Given the description of an element on the screen output the (x, y) to click on. 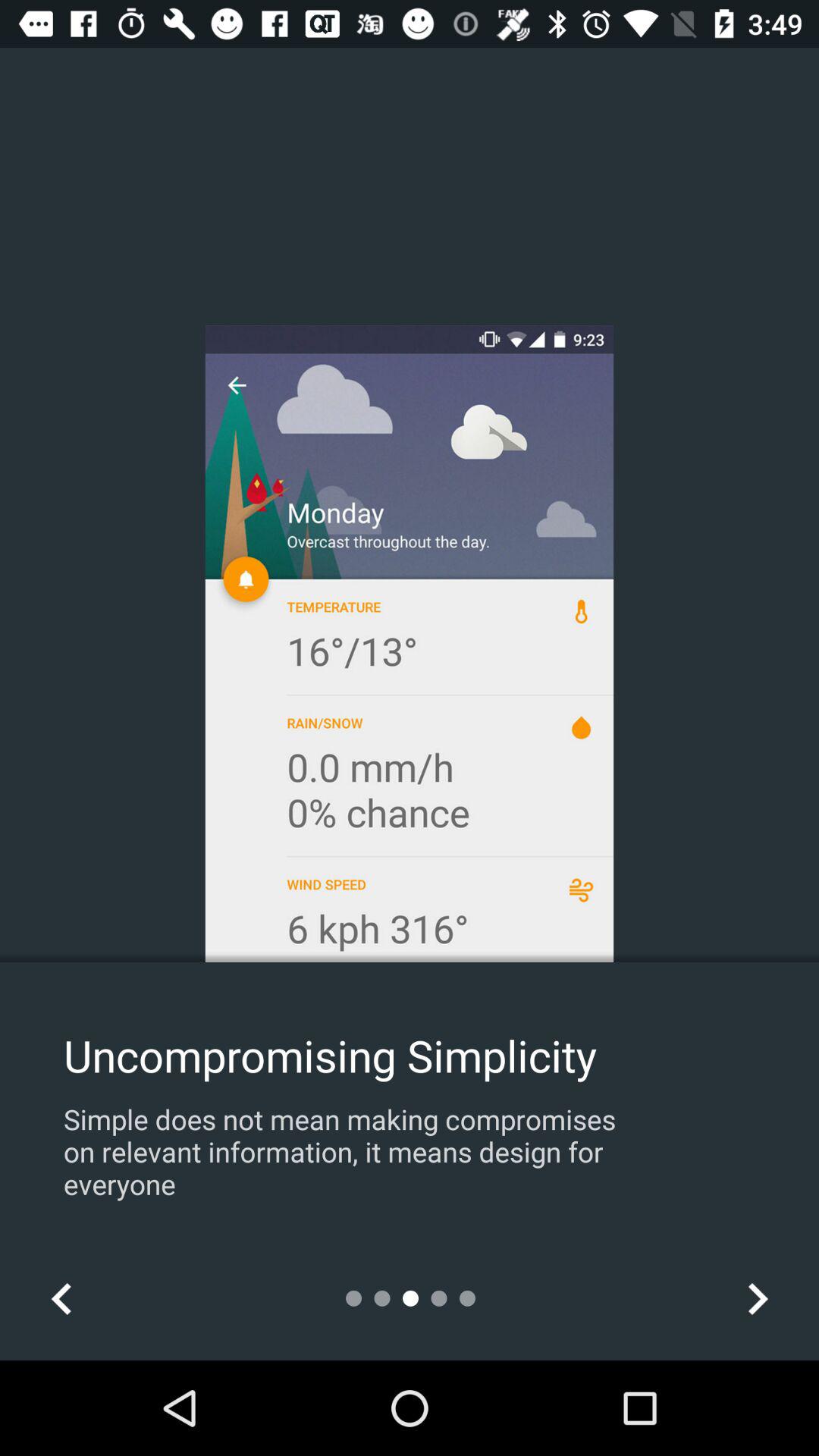
turn on the item at the bottom right corner (757, 1298)
